Given the description of an element on the screen output the (x, y) to click on. 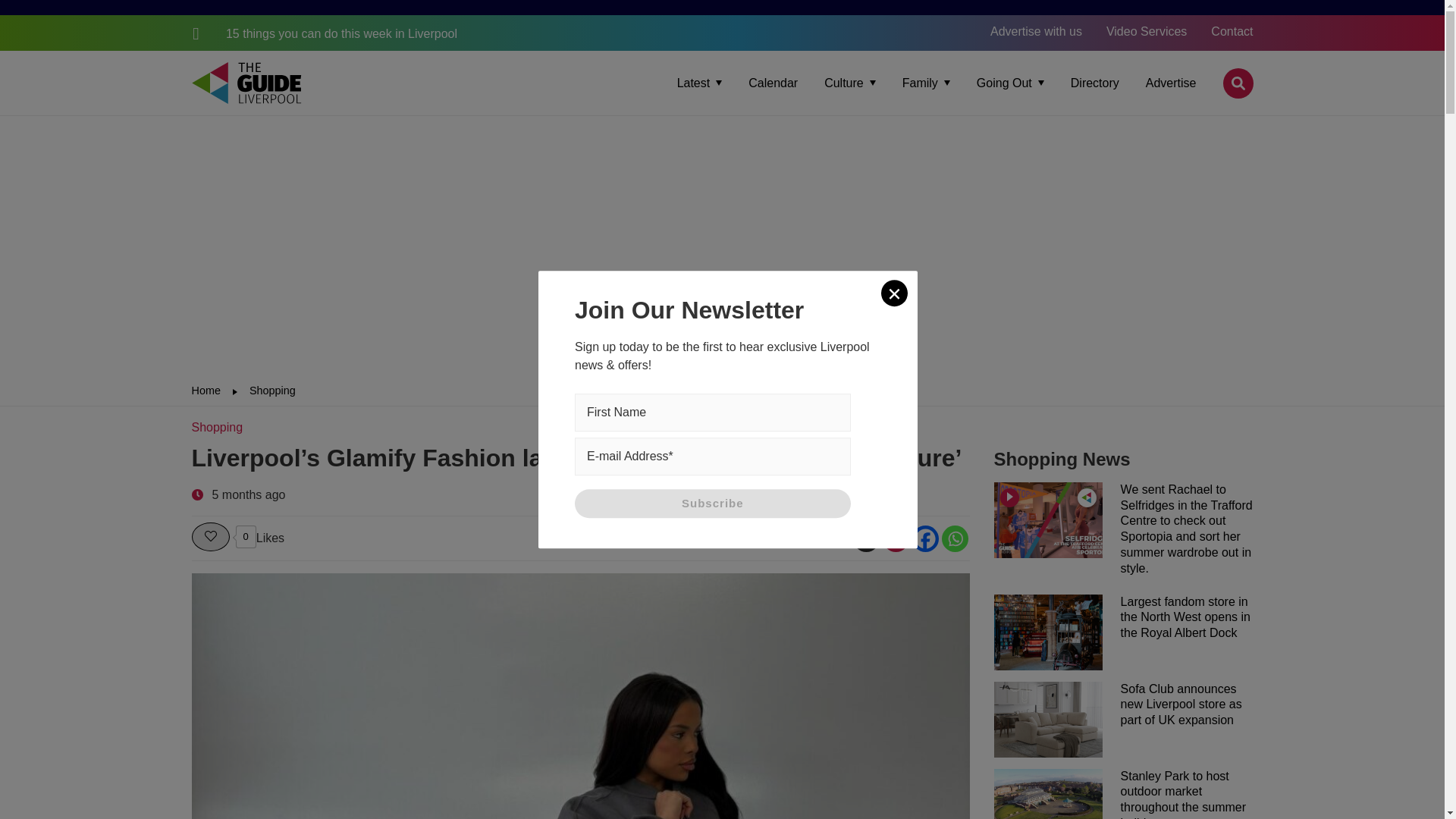
15 things you can do this week in Liverpool (323, 33)
X (865, 538)
Facebook (924, 538)
Latest (699, 82)
Contact (1231, 31)
Advertise with us (1035, 31)
Whatsapp (955, 538)
Video Services (1146, 31)
Email (895, 538)
Calendar (772, 82)
